Given the description of an element on the screen output the (x, y) to click on. 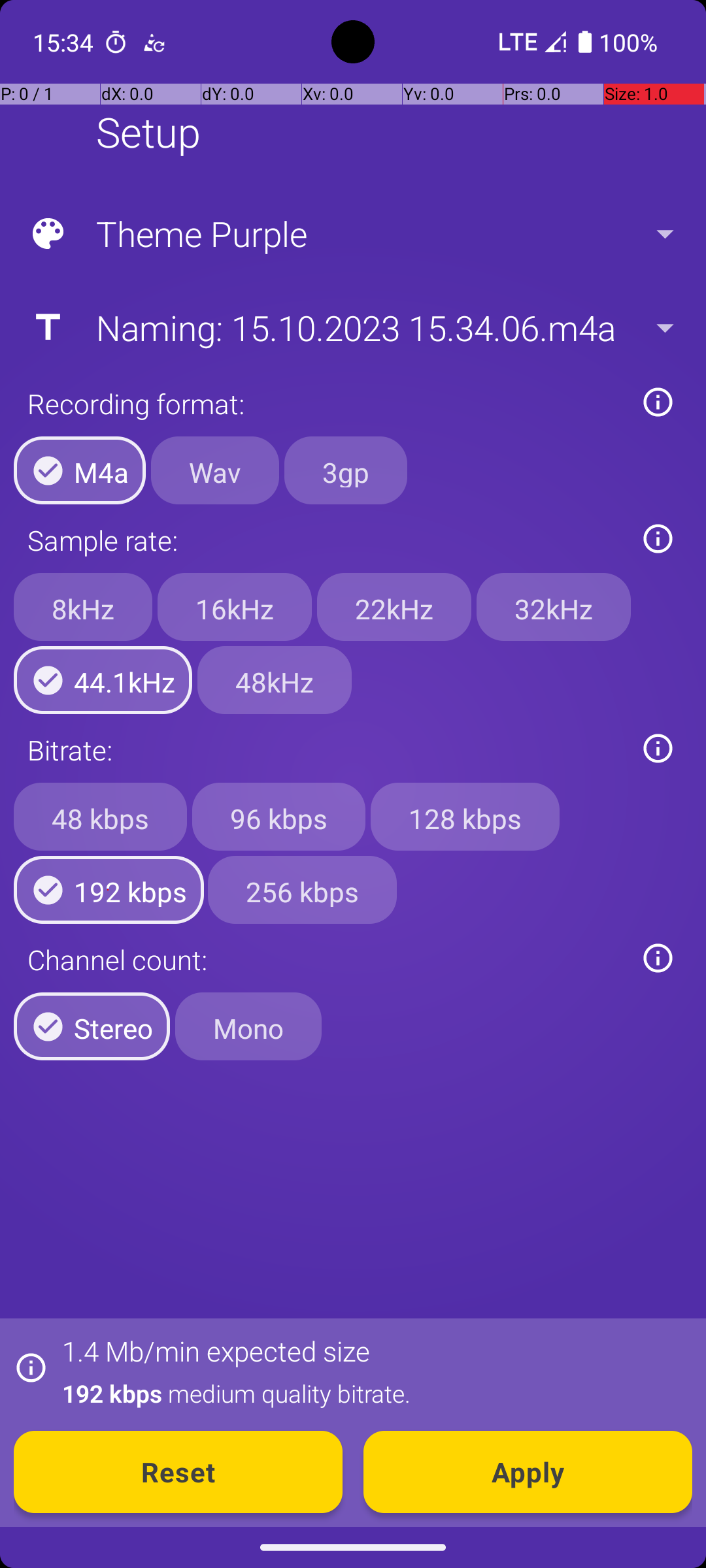
1.4 Mb/min expected size Element type: android.widget.TextView (215, 1350)
192 kbps medium quality bitrate. Element type: android.widget.TextView (370, 1392)
Naming: 15.10.2023 15.34.06.m4a Element type: android.widget.TextView (352, 327)
VLC notification: Scanning for media files Element type: android.widget.ImageView (153, 41)
